Given the description of an element on the screen output the (x, y) to click on. 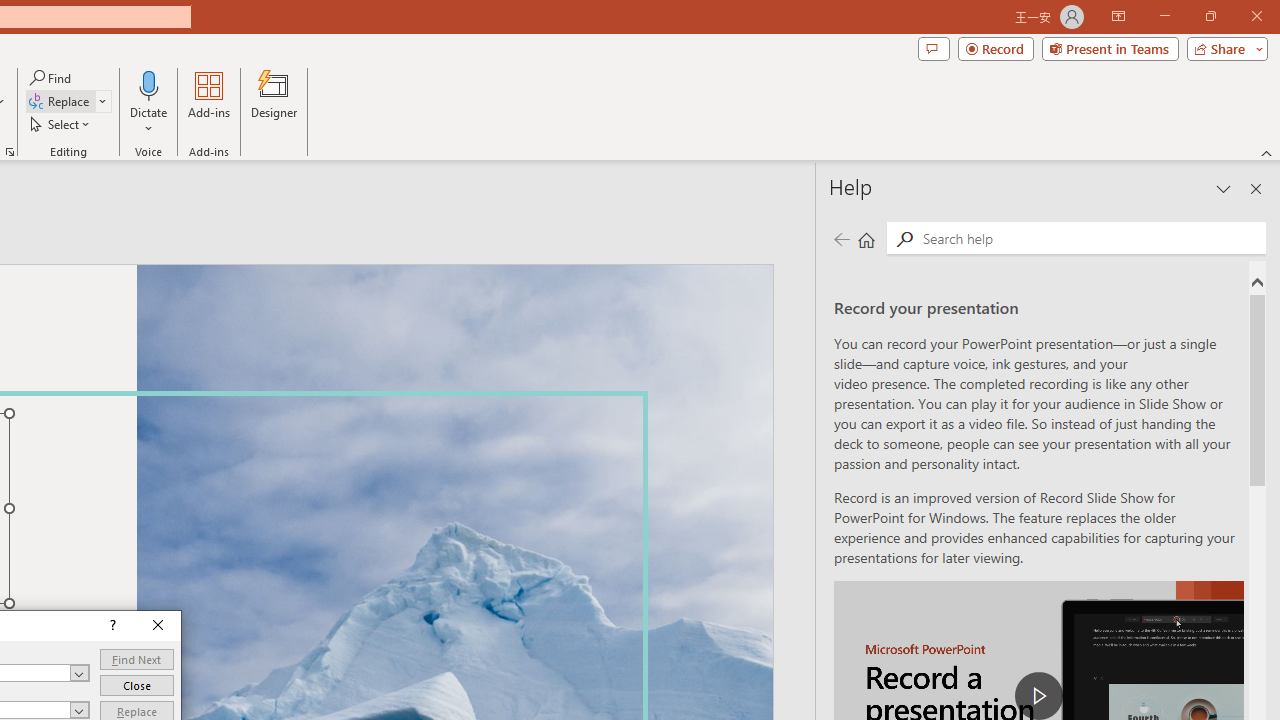
Context help (111, 625)
play Record a Presentation (1038, 695)
